Given the description of an element on the screen output the (x, y) to click on. 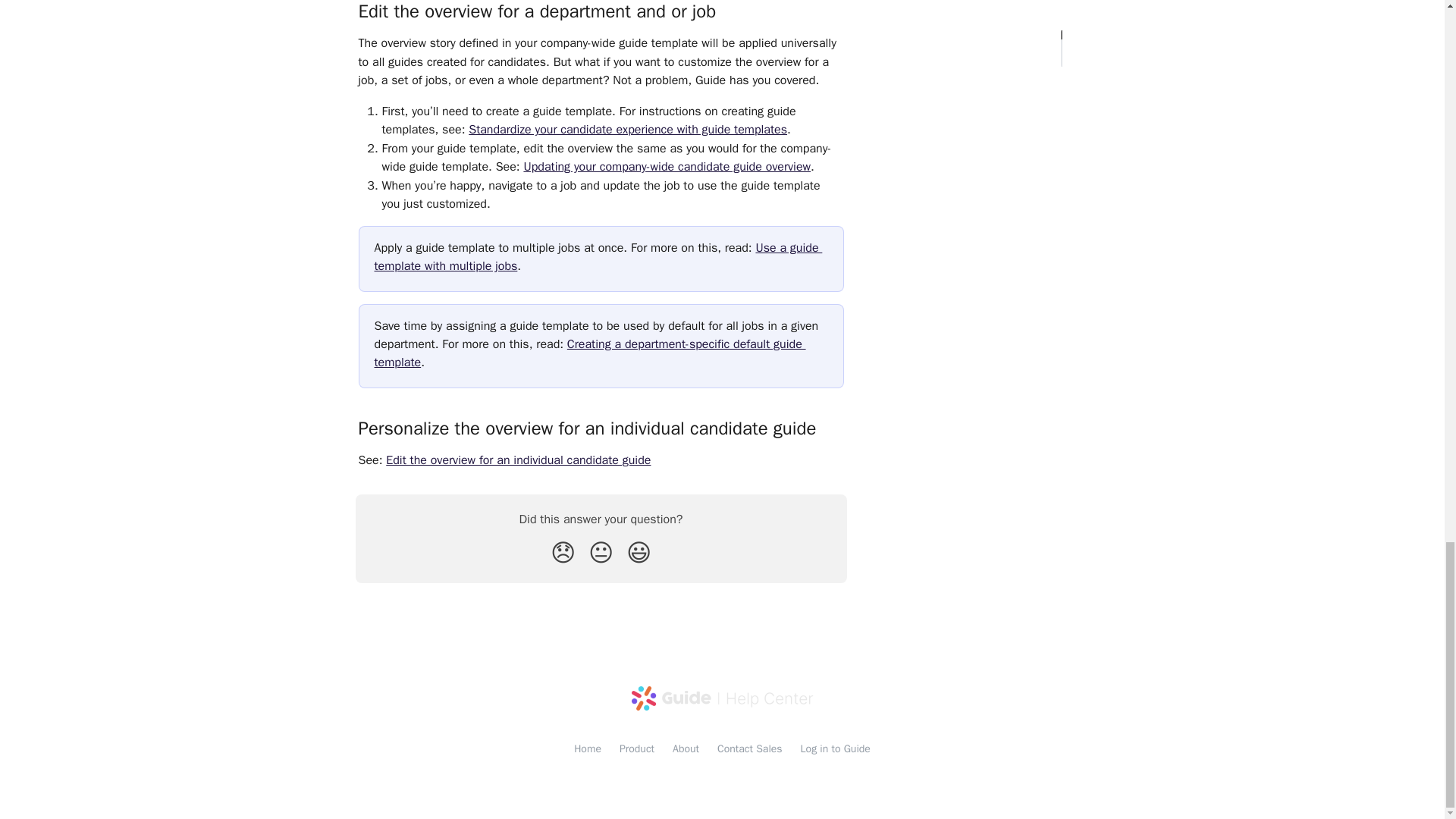
Home (587, 748)
Creating a department-specific default guide template (590, 353)
Product (636, 748)
Log in to Guide (835, 748)
Disappointed (562, 552)
Standardize your candidate experience with guide templates (627, 129)
Edit the overview for an individual candidate guide (517, 459)
Smiley (638, 552)
Updating your company-wide candidate guide overview (666, 166)
Contact Sales (750, 748)
About (685, 748)
Neutral (600, 552)
Use a guide template with multiple jobs (598, 256)
